Given the description of an element on the screen output the (x, y) to click on. 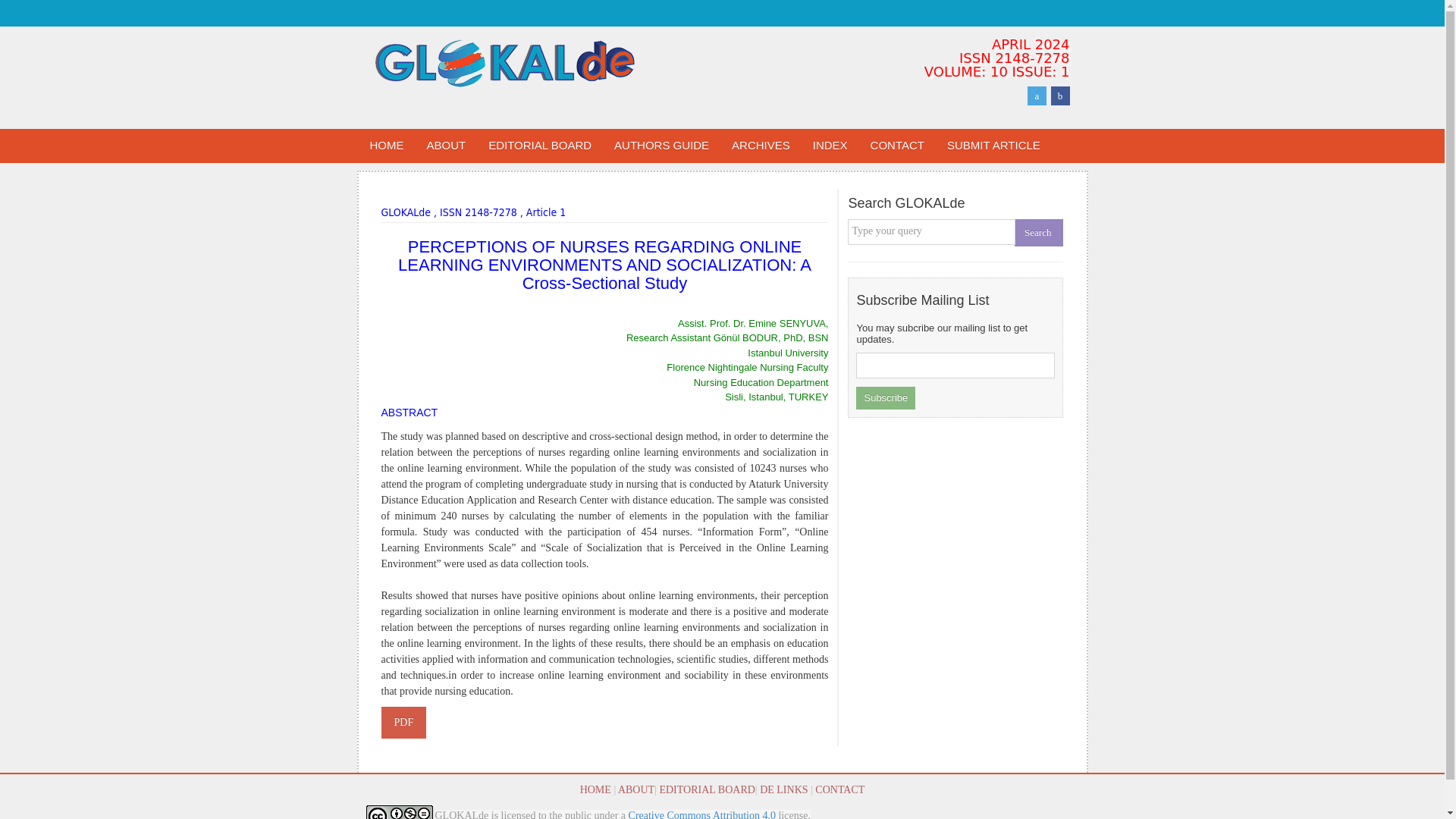
EDITORIAL BOARD (706, 789)
HOME (386, 145)
DE LINKS (784, 789)
ABOUT (635, 789)
ABOUT (445, 145)
Submit Article (993, 145)
Contact (897, 145)
Creative Commons Attribution 4.0 (702, 814)
SUBMIT ARTICLE (993, 145)
Author Guide (661, 145)
ARCHIVES (761, 145)
Archives (761, 145)
CONTACT (839, 789)
HOME (595, 789)
PDF (403, 722)
